Given the description of an element on the screen output the (x, y) to click on. 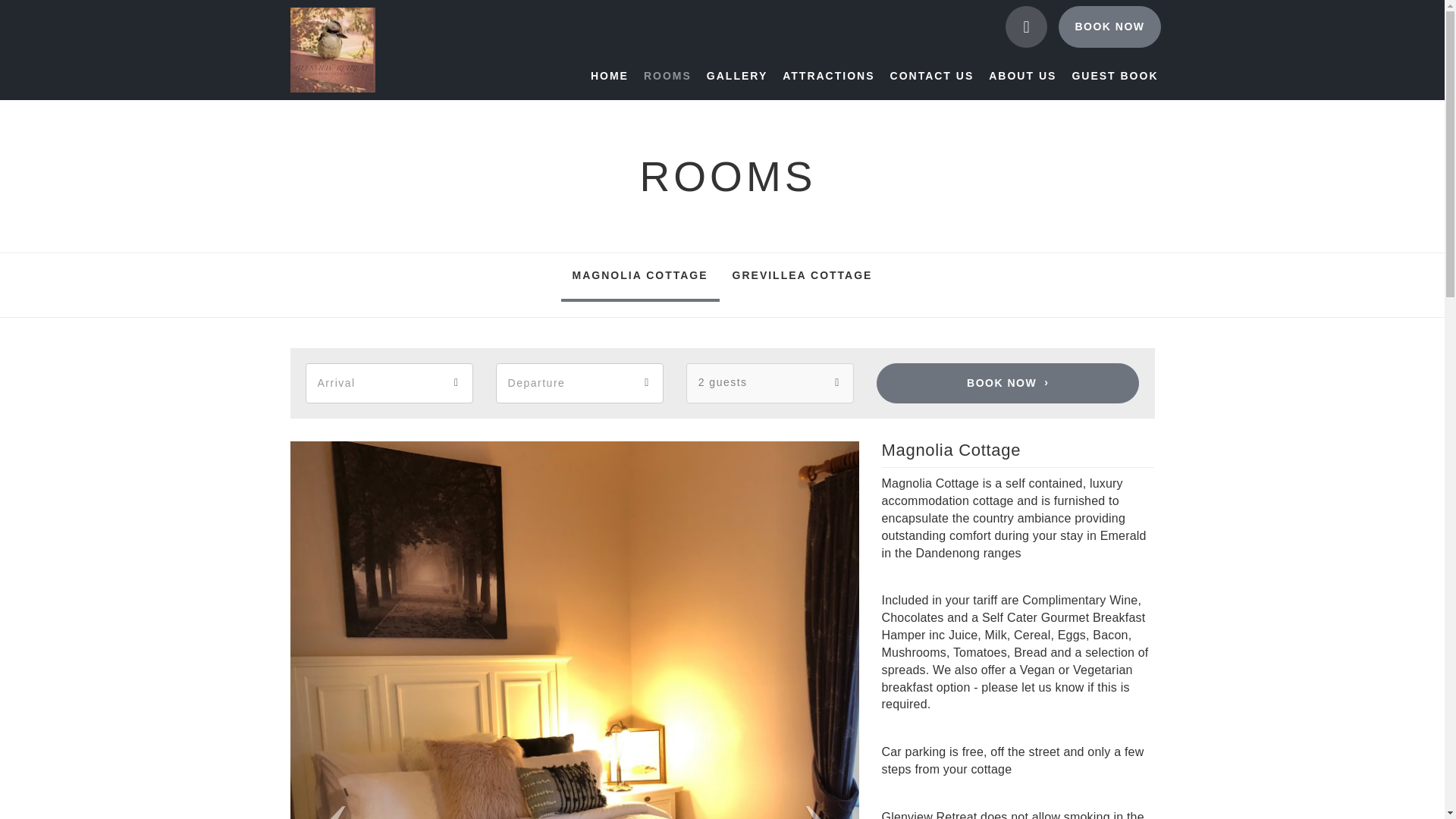
CONTACT US (931, 75)
ATTRACTIONS (828, 75)
BOOK NOW (1008, 383)
GREVILLEA COTTAGE (801, 277)
GUEST BOOK (1115, 75)
HOME (613, 75)
GALLERY (736, 75)
MAGNOLIA COTTAGE (639, 277)
ABOUT US (1022, 75)
BOOK NOW (1109, 26)
ROOMS (667, 75)
